Given the description of an element on the screen output the (x, y) to click on. 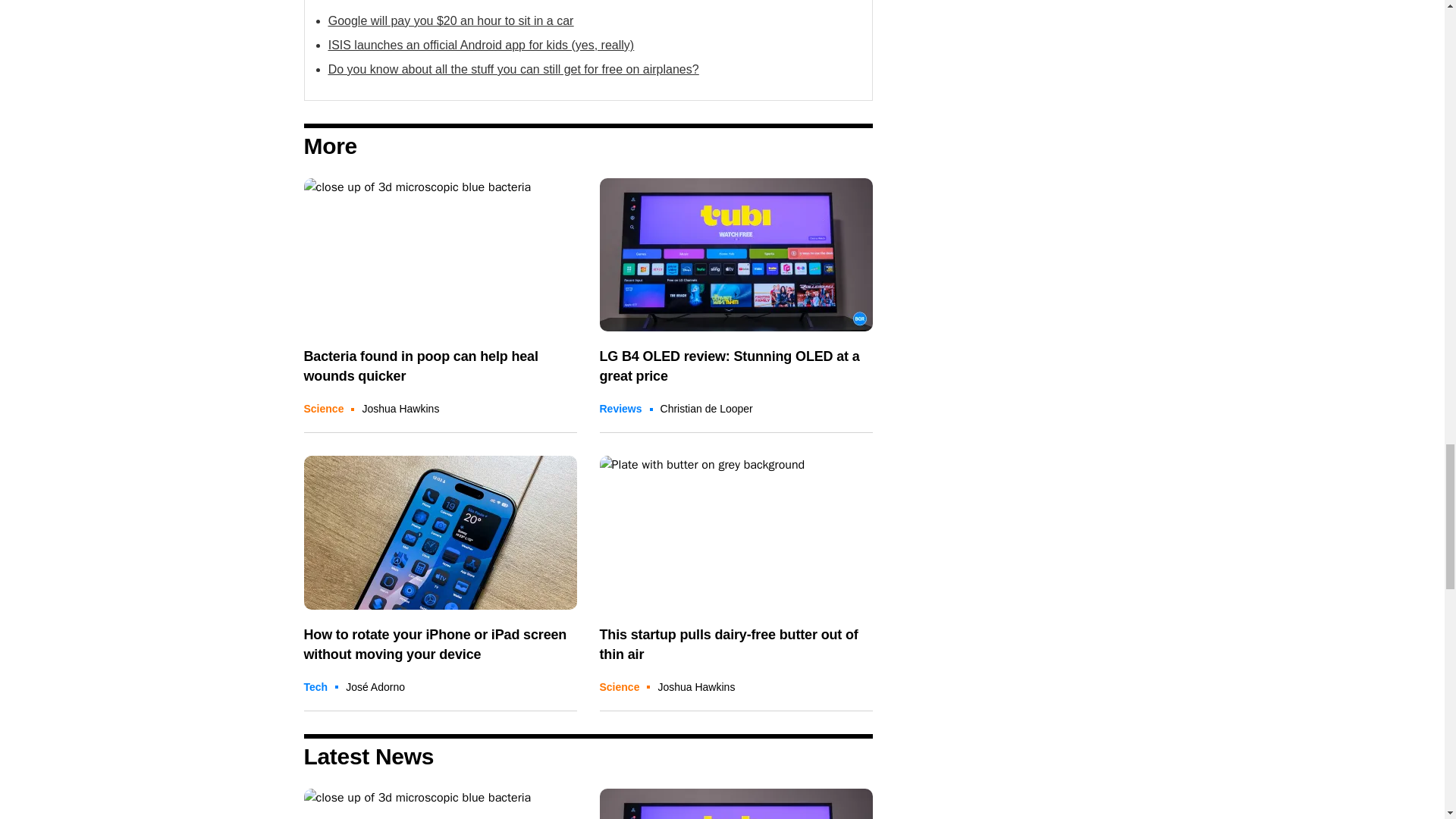
good bacteria (439, 255)
LG B4 OLED Review (735, 255)
Posts by Joshua Hawkins (400, 408)
dairy-free butter (735, 532)
Posts by Christian de Looper (706, 408)
good bacteria (439, 803)
LG B4 OLED Review (735, 803)
Posts by Joshua Hawkins (696, 686)
